Given the description of an element on the screen output the (x, y) to click on. 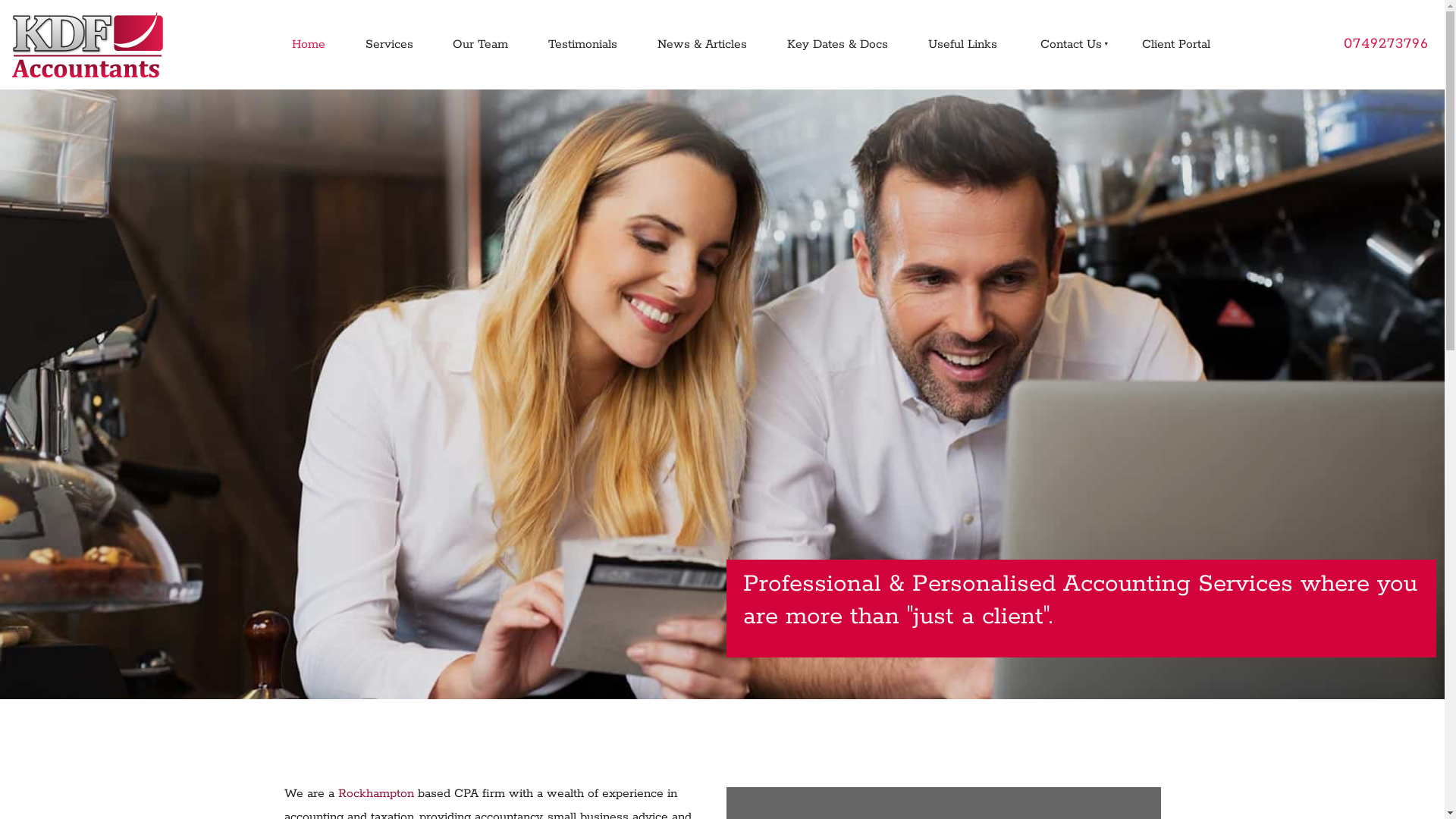
Contact Us Element type: text (1069, 44)
Client Portal Element type: text (1176, 44)
Home Element type: text (308, 44)
Our Team Element type: text (480, 44)
Testimonials Element type: text (582, 44)
Services Element type: text (389, 44)
Useful Links Element type: text (961, 44)
0749273796 Element type: text (1385, 44)
News & Articles Element type: text (702, 44)
Key Dates & Docs Element type: text (836, 44)
